Given the description of an element on the screen output the (x, y) to click on. 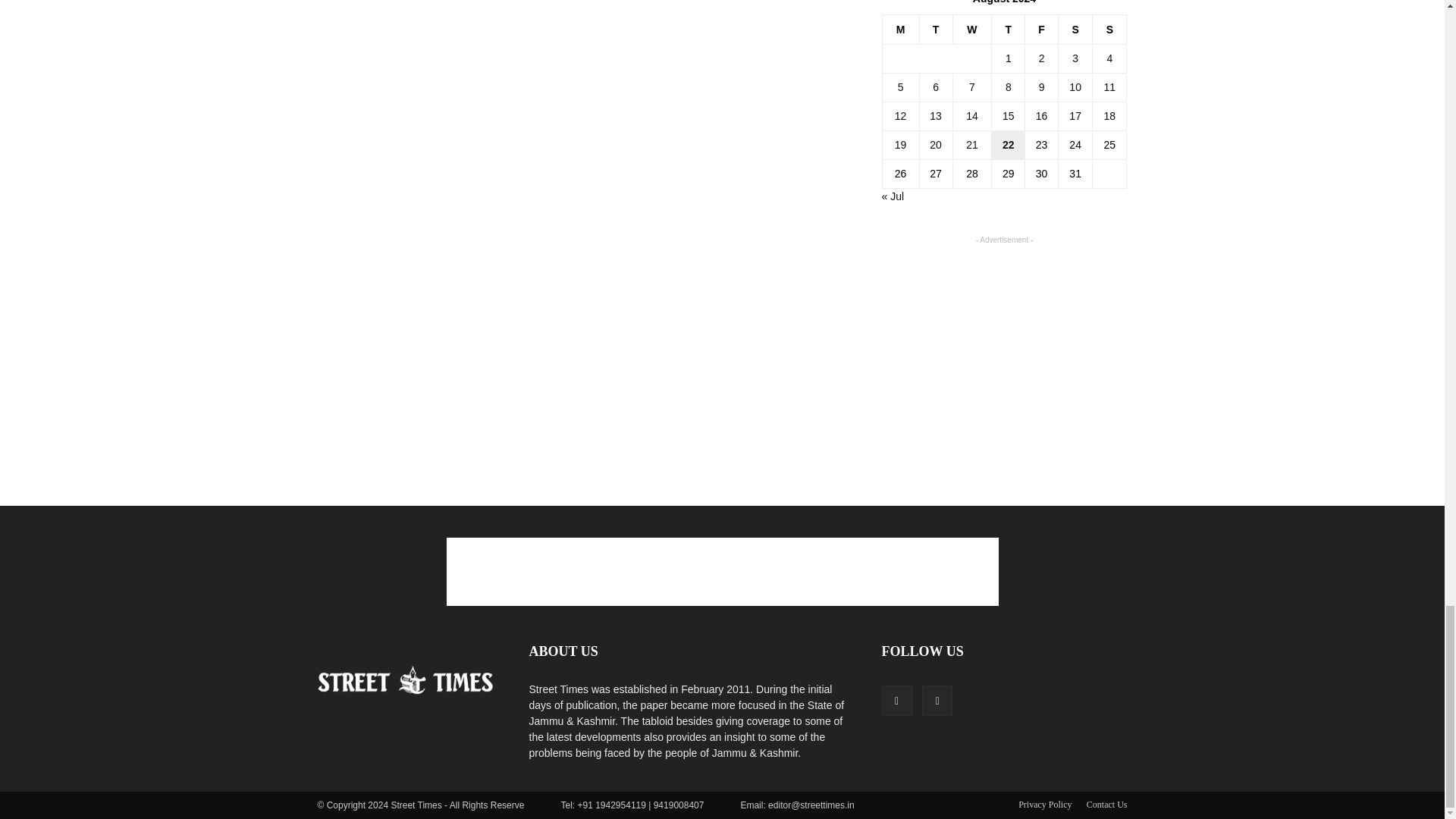
Monday (900, 29)
Thursday (1008, 29)
Wednesday (971, 29)
Facebook (895, 699)
Friday (1041, 29)
Tuesday (935, 29)
Sunday (1109, 29)
Saturday (1075, 29)
